Given the description of an element on the screen output the (x, y) to click on. 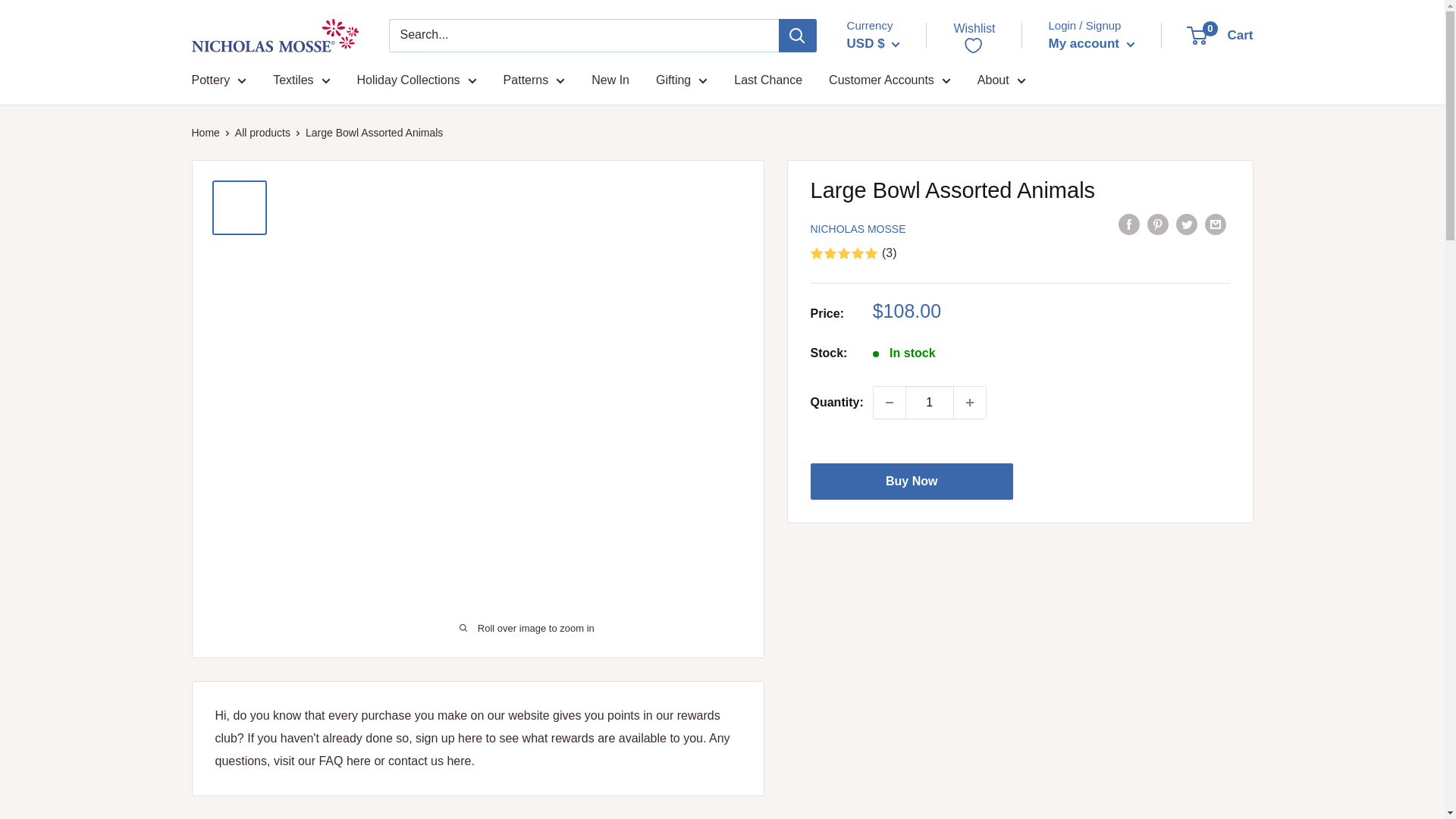
Decrease quantity by 1 (889, 402)
Increase quantity by 1 (969, 402)
1 (929, 402)
